Given the description of an element on the screen output the (x, y) to click on. 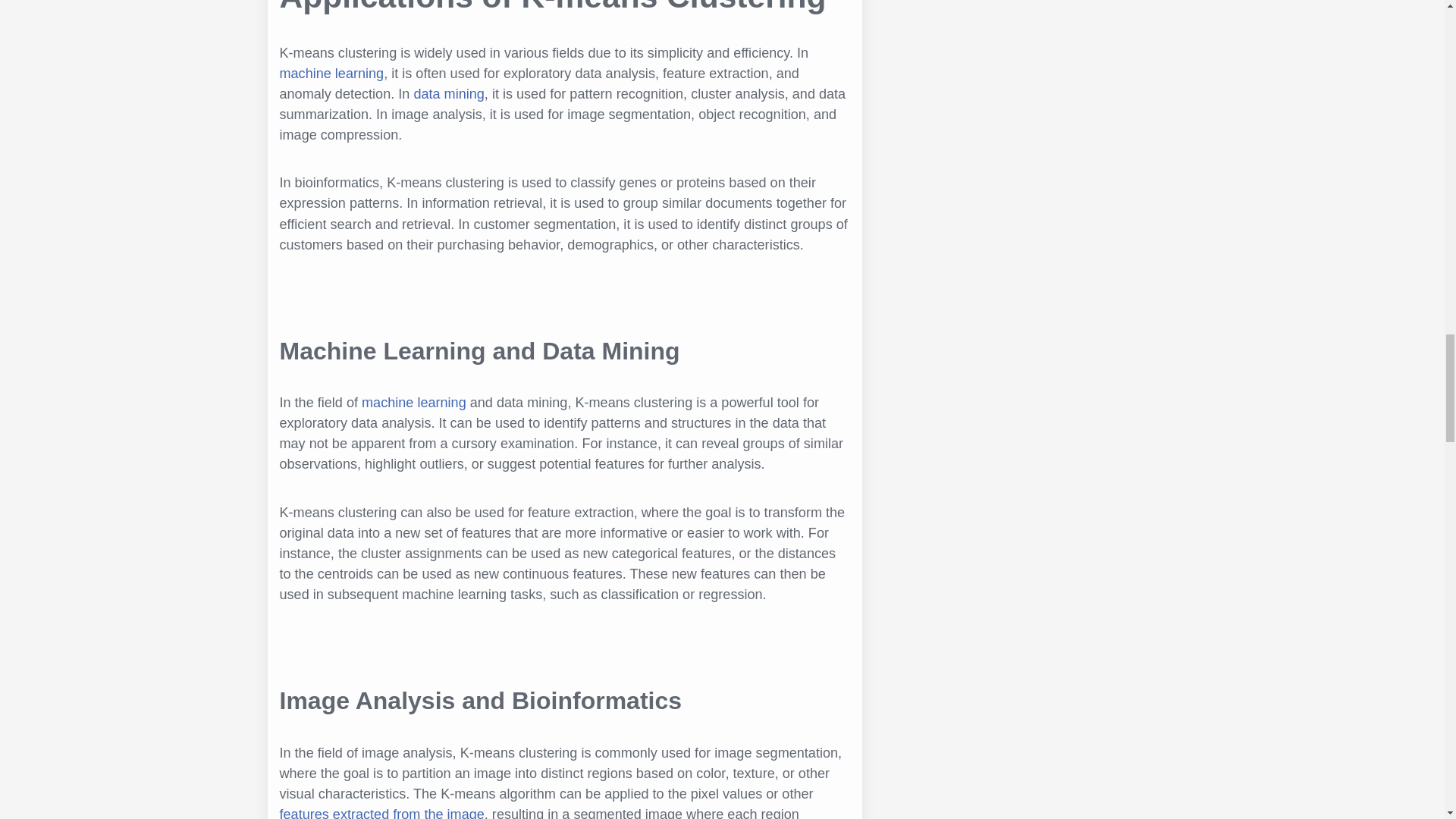
features extracted from the image (381, 812)
data mining (448, 93)
machine learning (331, 73)
machine learning (413, 402)
